Given the description of an element on the screen output the (x, y) to click on. 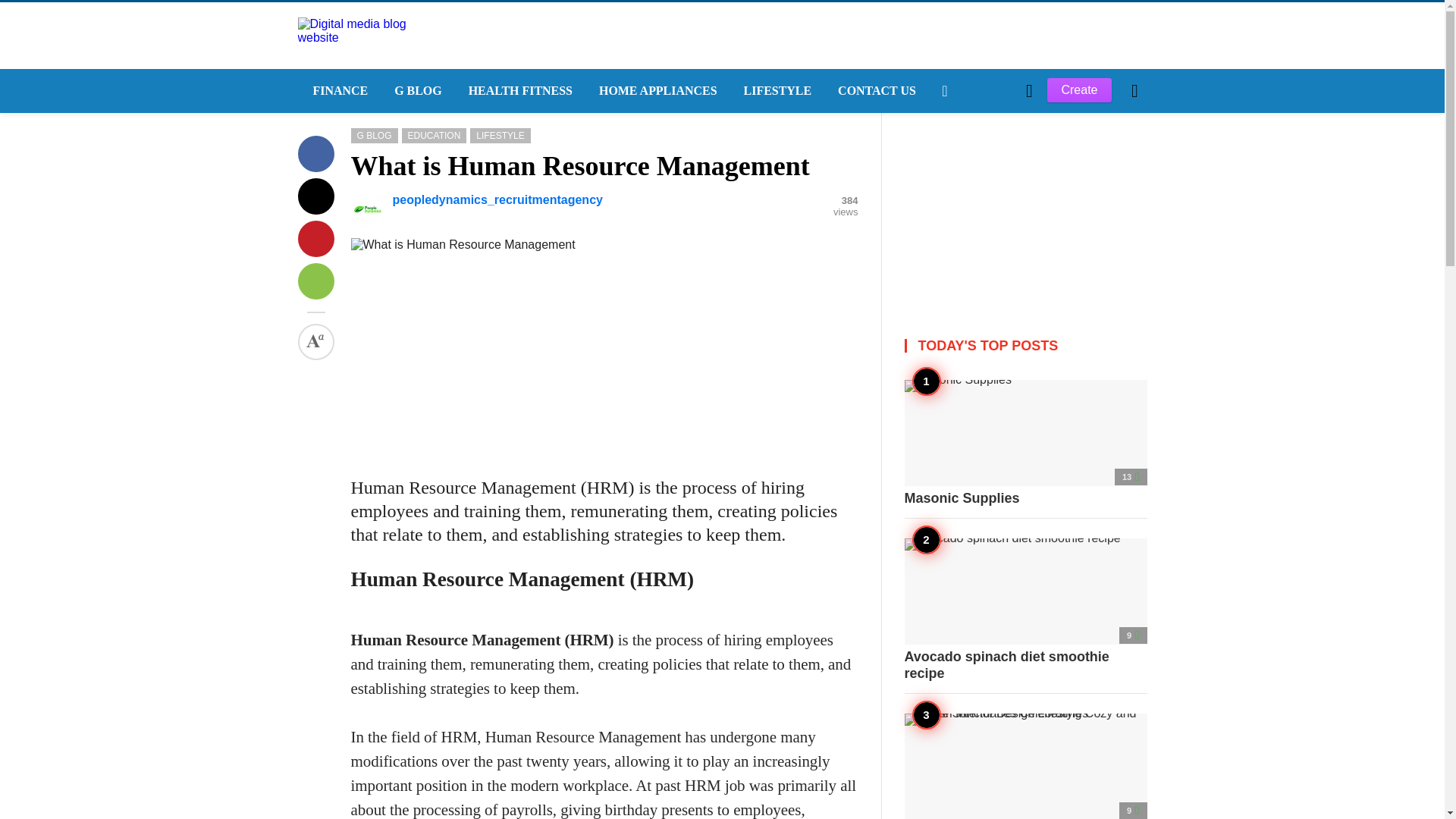
G BLOG (415, 90)
Advertisement (1025, 207)
FINANCE (337, 90)
CONTACT US (874, 90)
sign up (964, 347)
LIFESTYLE (776, 90)
Advertisement (603, 357)
HEALTH FITNESS (517, 90)
Avocado spinach diet smoothie recipe (1025, 610)
